Given the description of an element on the screen output the (x, y) to click on. 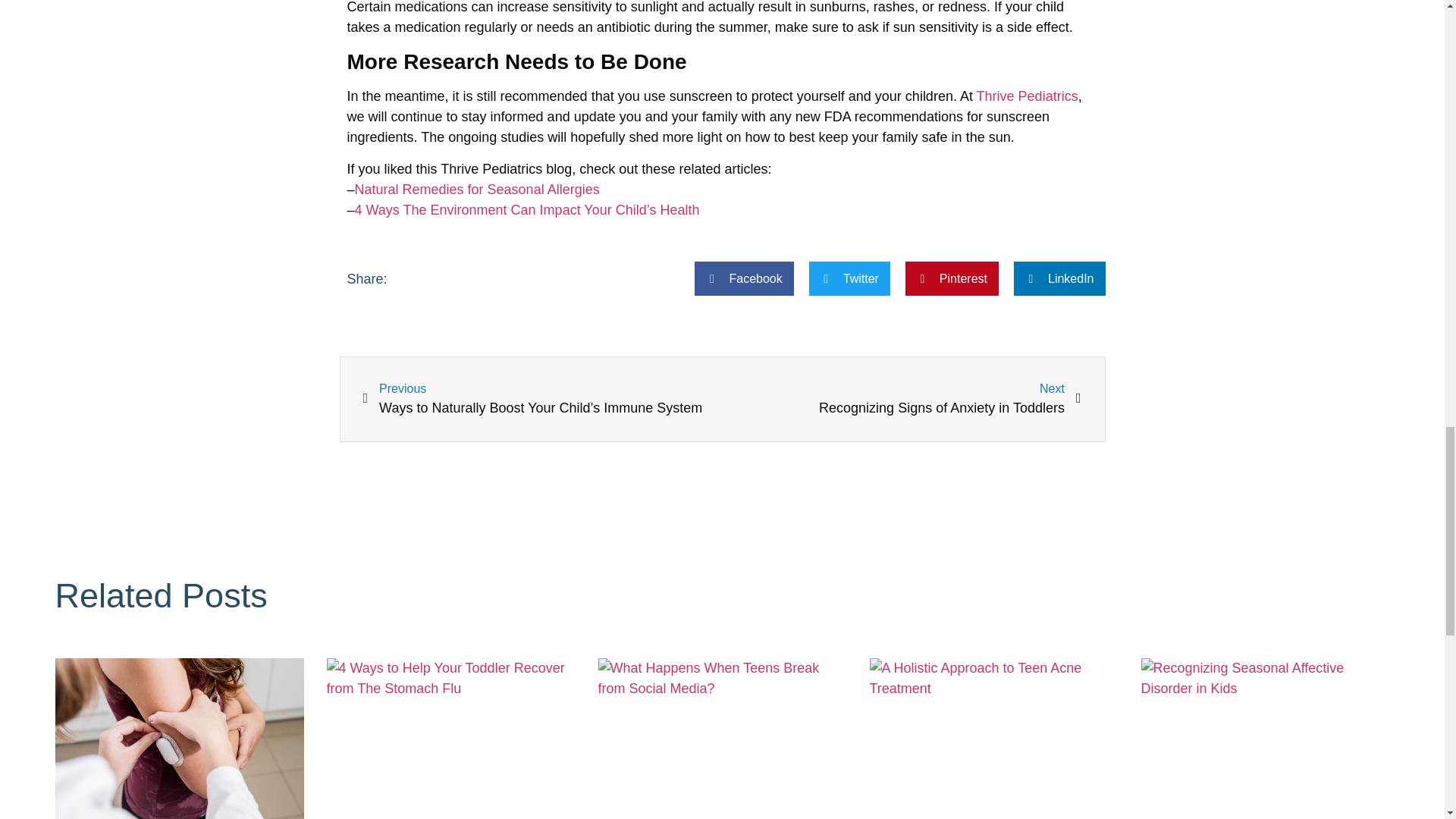
Natural Remedies for Seasonal Allergies (477, 189)
Thrive Pediatrics (1027, 96)
